Given the description of an element on the screen output the (x, y) to click on. 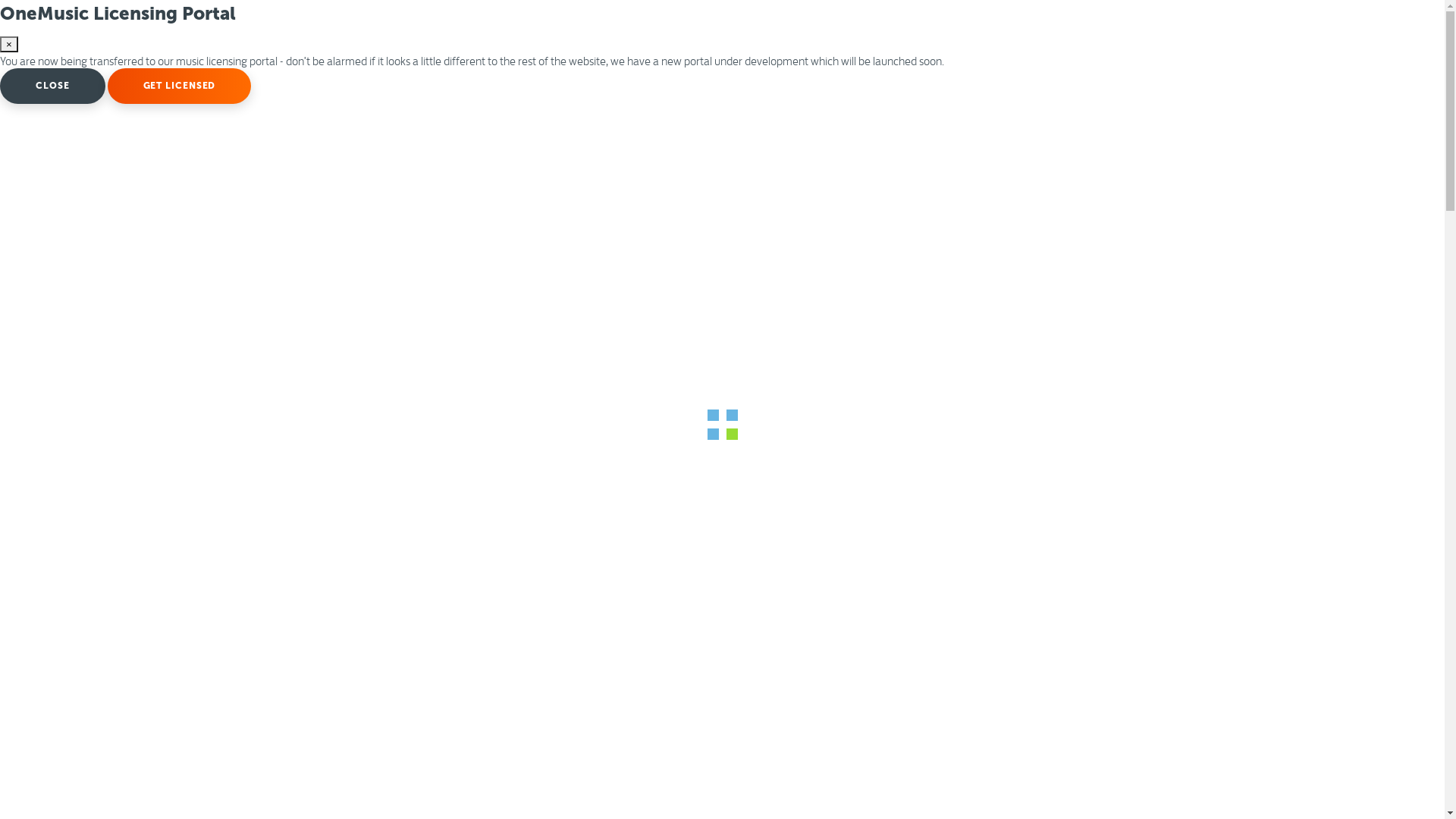
CLOSE Element type: text (52, 85)
GET LICENSED Element type: text (179, 85)
